Given the description of an element on the screen output the (x, y) to click on. 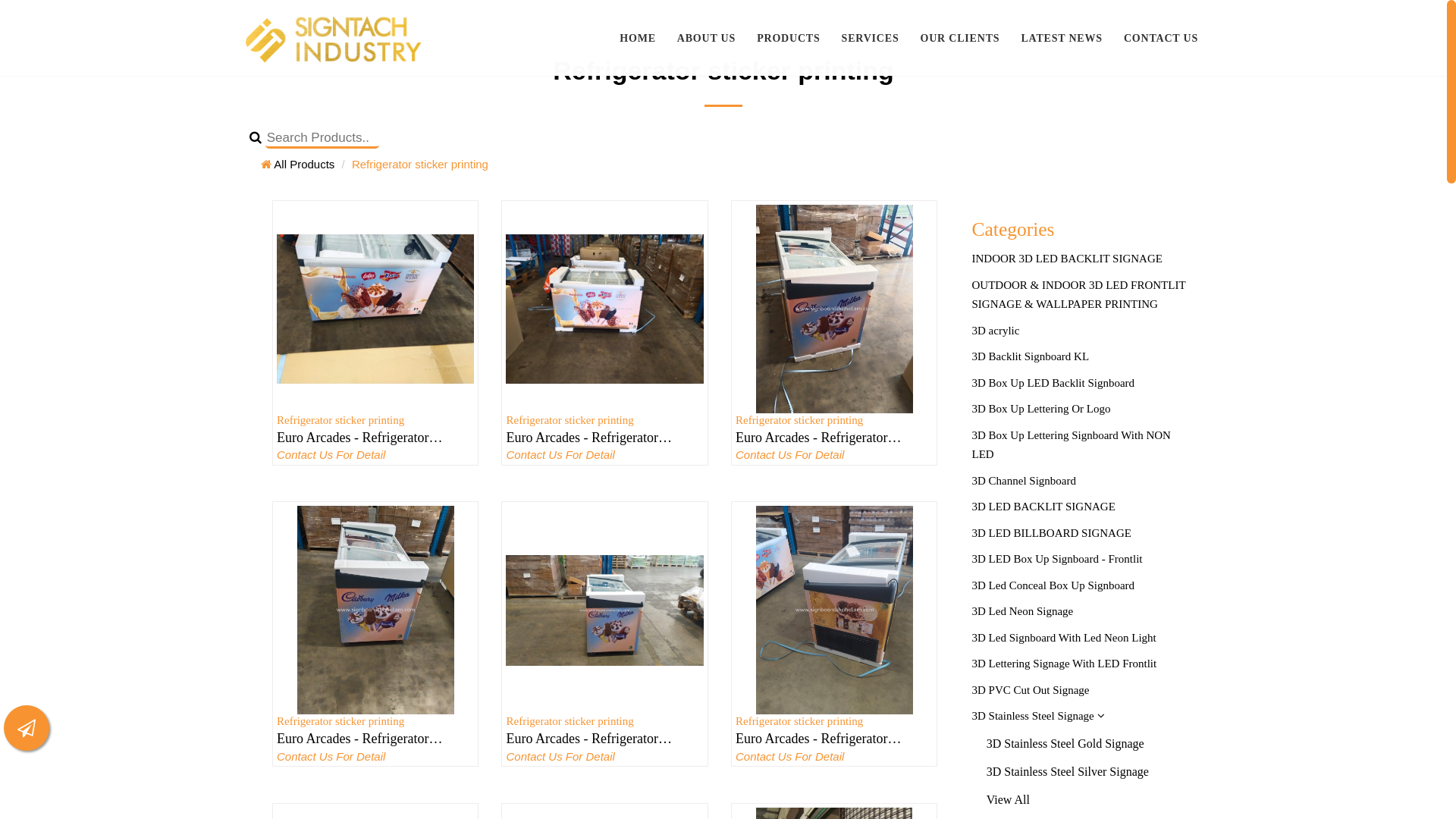
3D Lettering Signage With LED Frontlit Element type: text (1079, 664)
HOME Element type: text (637, 37)
LATEST NEWS Element type: text (1061, 37)
Euro Arcades - Refrigerator Sticker Element type: hover (603, 609)
Contact Us For Detail Element type: text (827, 756)
CONTACT US Element type: text (1160, 37)
Contact Us For Detail Element type: text (368, 454)
3D Box Up Lettering Signboard With NON LED Element type: text (1079, 445)
3D LED BACKLIT SIGNAGE Element type: text (1079, 507)
3D Backlit Signboard KL Element type: text (1079, 357)
Euro Arcades - Refrigerator Sticker Element type: hover (833, 609)
Contact Us For Detail Element type: text (597, 454)
3D Box Up LED Backlit Signboard Element type: text (1079, 383)
Euro Arcades - Refrigerator Sticker Element type: hover (833, 308)
 All Products Element type: text (297, 163)
Contact Us For Detail Element type: text (368, 756)
Euro Arcades - Refrigerator Sticker Element type: text (371, 437)
ABOUT US Element type: text (706, 37)
Contact Us For Detail Element type: text (597, 756)
Euro Arcades - Refrigerator Sticker Element type: hover (603, 308)
3D Stainless Steel Gold Signage Element type: text (1079, 743)
Euro Arcades - Refrigerator Sticker Element type: text (830, 437)
View All Element type: text (1079, 799)
3D Led Neon Signage Element type: text (1079, 611)
Euro Arcades - Refrigerator Sticker Element type: text (600, 437)
3D Stainless Steel Signage Element type: text (1079, 716)
Euro Arcades - Refrigerator Sticker Element type: hover (374, 308)
3D Led Signboard With Led Neon Light Element type: text (1079, 638)
Contact Us For Detail Element type: text (827, 454)
Refrigerator sticker printing Element type: text (419, 163)
3D Stainless Steel Silver Signage Element type: text (1079, 771)
Euro Arcades - Refrigerator Sticker Element type: text (830, 738)
INDOOR 3D LED BACKLIT SIGNAGE Element type: text (1079, 259)
Euro Arcades - Refrigerator Sticker Element type: text (371, 738)
3D acrylic Element type: text (1079, 331)
Euro Arcades - Refrigerator Sticker Element type: hover (374, 609)
3D LED BILLBOARD SIGNAGE Element type: text (1079, 533)
3D Led Conceal Box Up Signboard Element type: text (1079, 586)
3D Channel Signboard Element type: text (1079, 481)
SERVICES Element type: text (870, 37)
OUR CLIENTS Element type: text (959, 37)
3D PVC Cut Out Signage Element type: text (1079, 690)
PRODUCTS Element type: text (788, 37)
Euro Arcades - Refrigerator Sticker Element type: text (600, 738)
3D LED Box Up Signboard - Frontlit Element type: text (1079, 559)
3D Box Up Lettering Or Logo Element type: text (1079, 409)
